Given the description of an element on the screen output the (x, y) to click on. 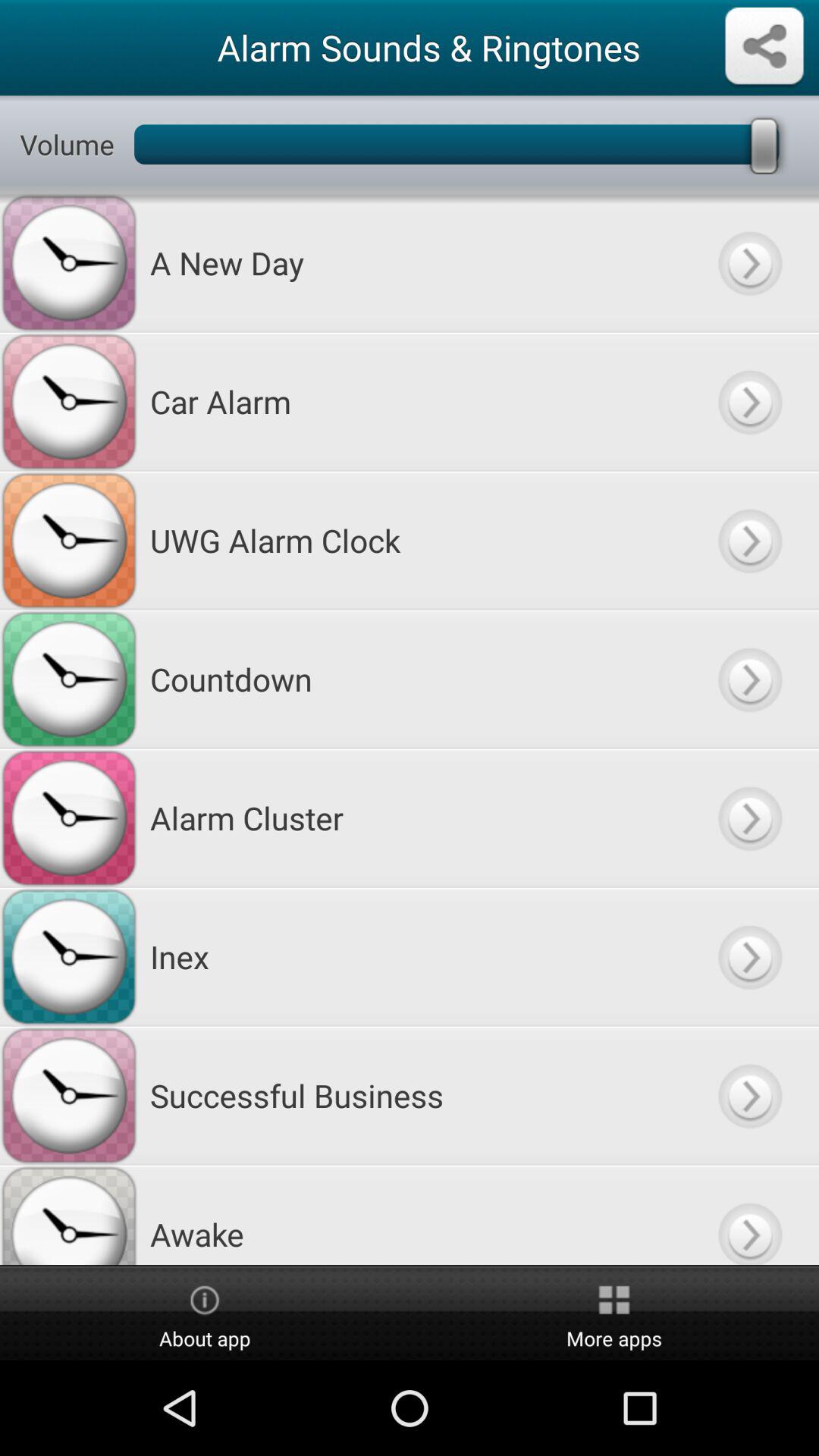
go to back (749, 1095)
